Given the description of an element on the screen output the (x, y) to click on. 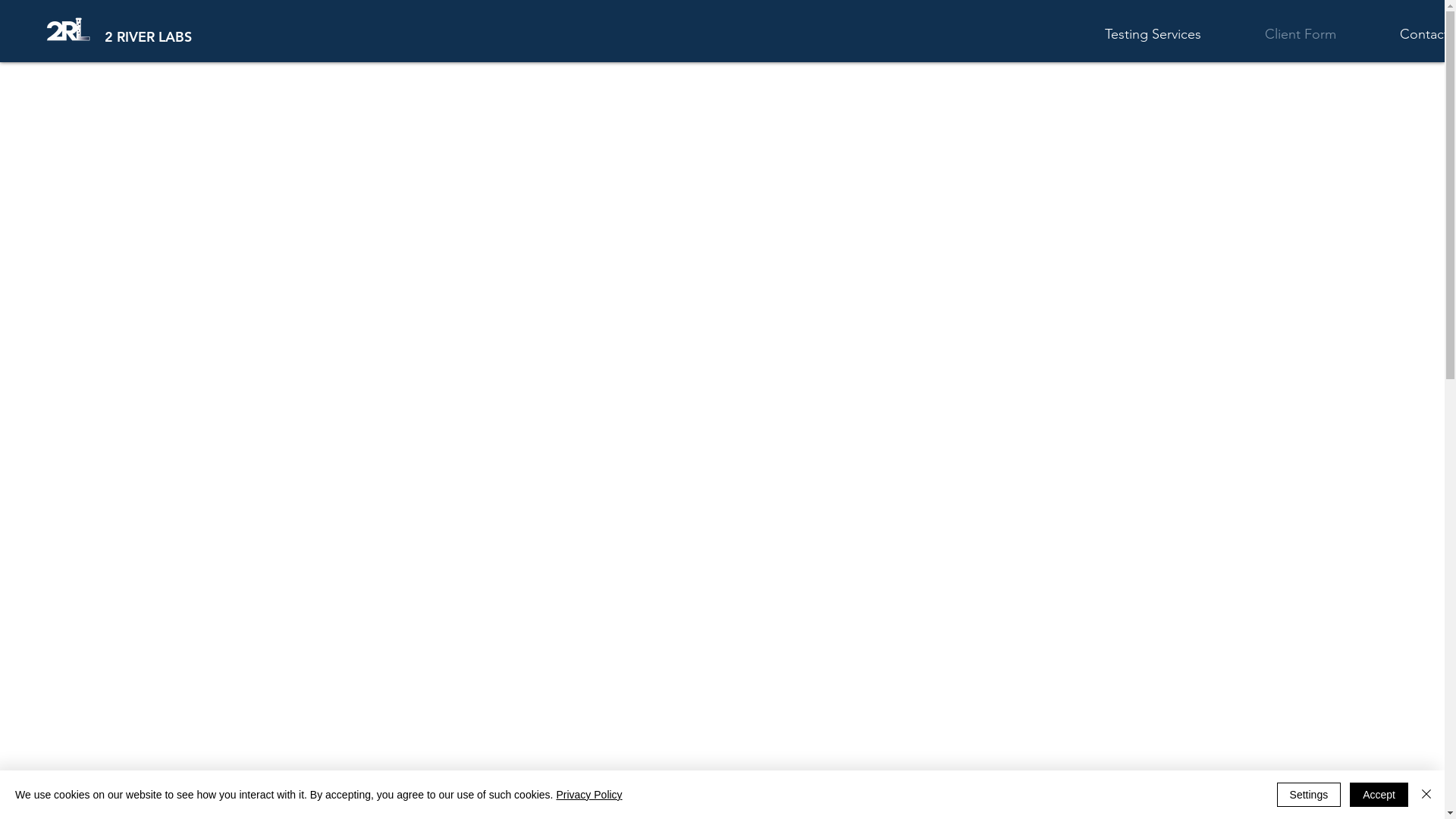
Settings Element type: text (1309, 794)
2 RIVER LABS Element type: text (147, 36)
Accept Element type: text (1378, 794)
Testing Services Element type: text (1173, 34)
Privacy Policy Element type: text (588, 794)
Client Form Element type: text (1319, 34)
